Given the description of an element on the screen output the (x, y) to click on. 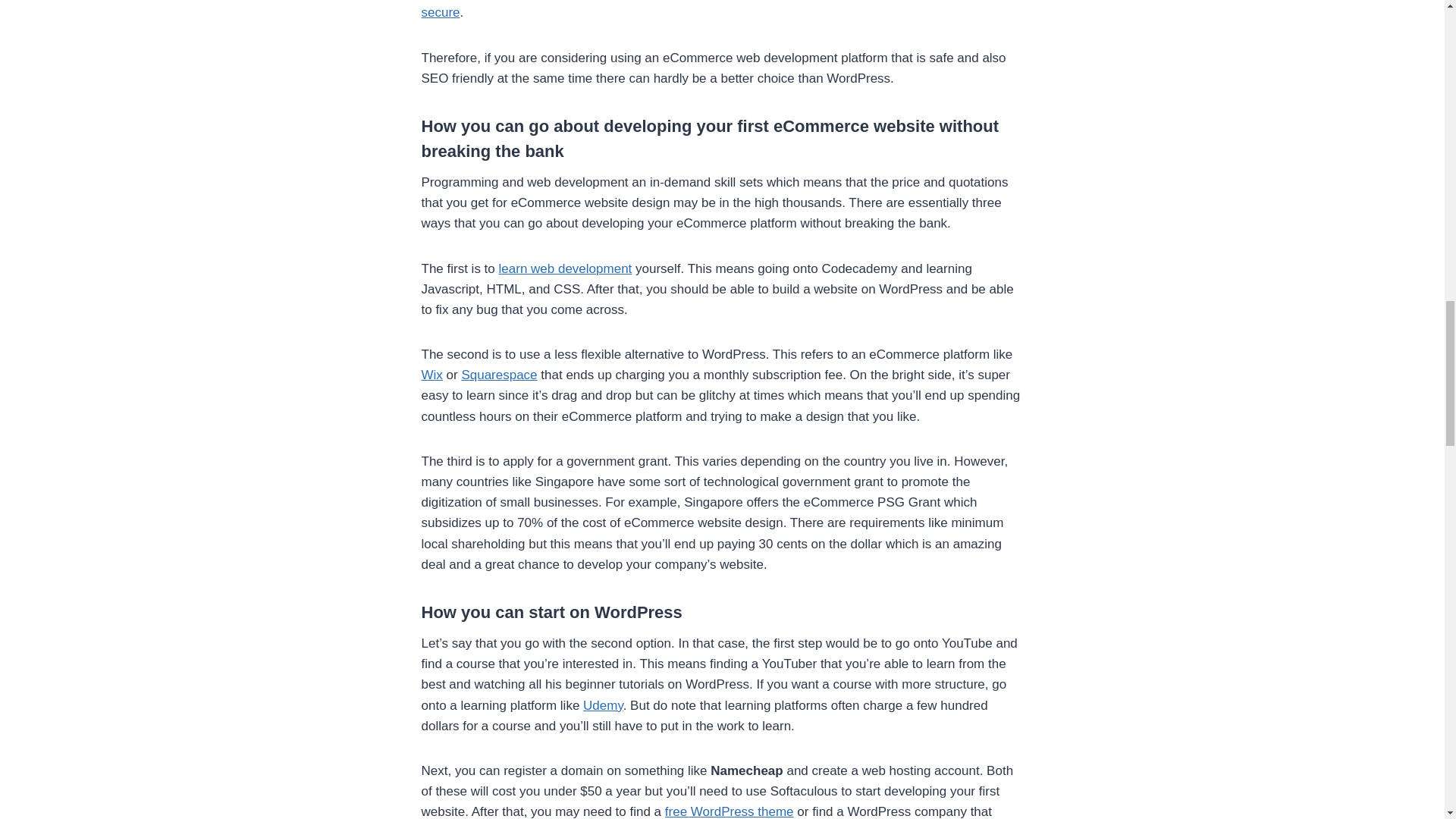
learn web development (565, 268)
keep your WordPress yard secure (715, 9)
free WordPress theme (729, 811)
Udemy (603, 705)
Wix (432, 374)
Squarespace (499, 374)
